Given the description of an element on the screen output the (x, y) to click on. 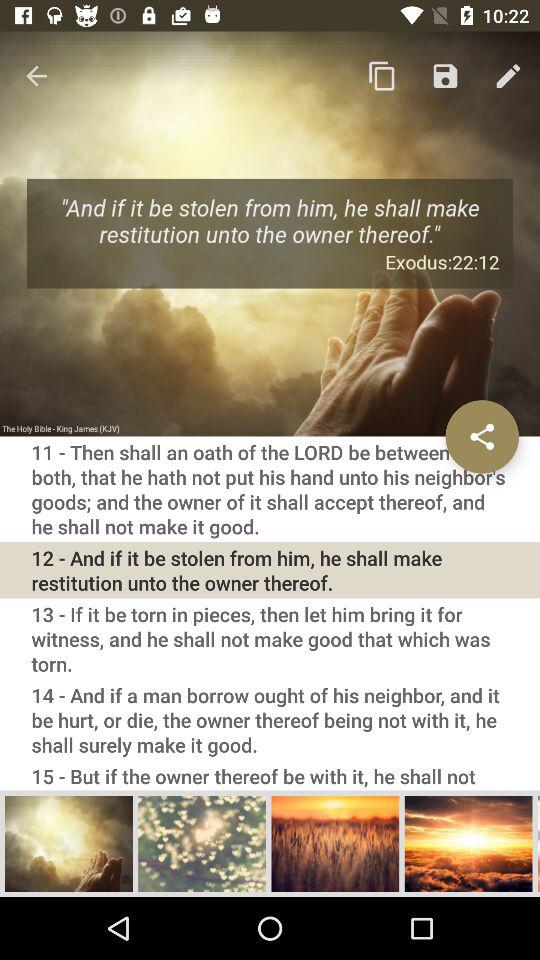
share this verse (482, 436)
